Given the description of an element on the screen output the (x, y) to click on. 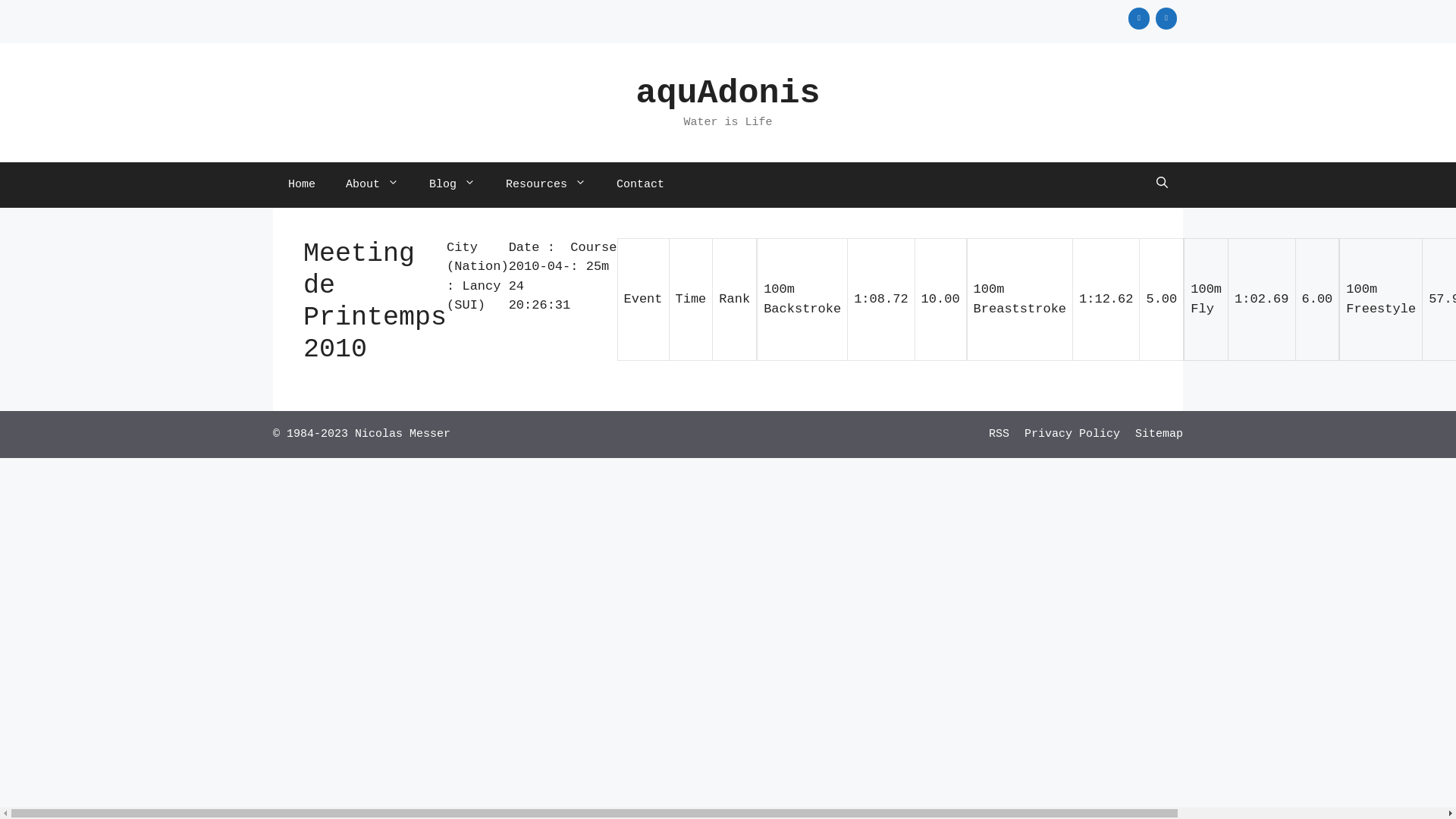
Home Element type: text (301, 184)
Instagram Element type: hover (1138, 18)
RSS Element type: text (998, 433)
Sitemap Element type: text (1159, 433)
Privacy Policy Element type: text (1072, 433)
About Element type: text (372, 184)
Blog Element type: text (452, 184)
Contact Element type: text (640, 184)
Twitter Element type: hover (1165, 18)
Resources Element type: text (545, 184)
aquAdonis Element type: text (727, 93)
